Given the description of an element on the screen output the (x, y) to click on. 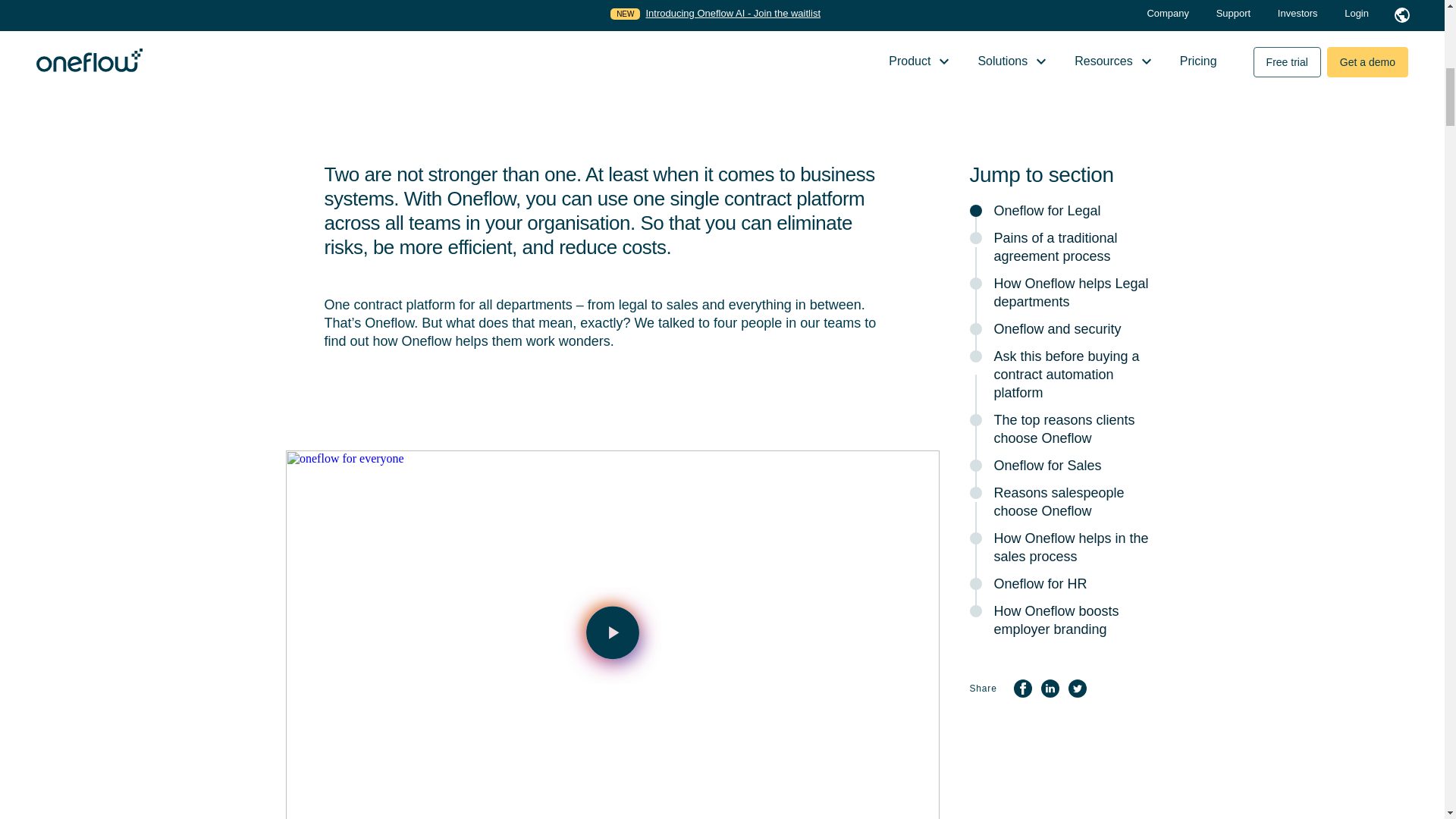
Oneflow and security (1063, 329)
Reasons salespeople choose Oneflow (1063, 501)
The top reasons clients choose Oneflow (1063, 429)
Oneflow for Sales (1063, 465)
Pains of a traditional agreement process (1063, 247)
Oneflow for Legal (1063, 210)
Ask this before buying a contract automation platform (1063, 374)
How Oneflow helps Legal departments (1063, 292)
